Given the description of an element on the screen output the (x, y) to click on. 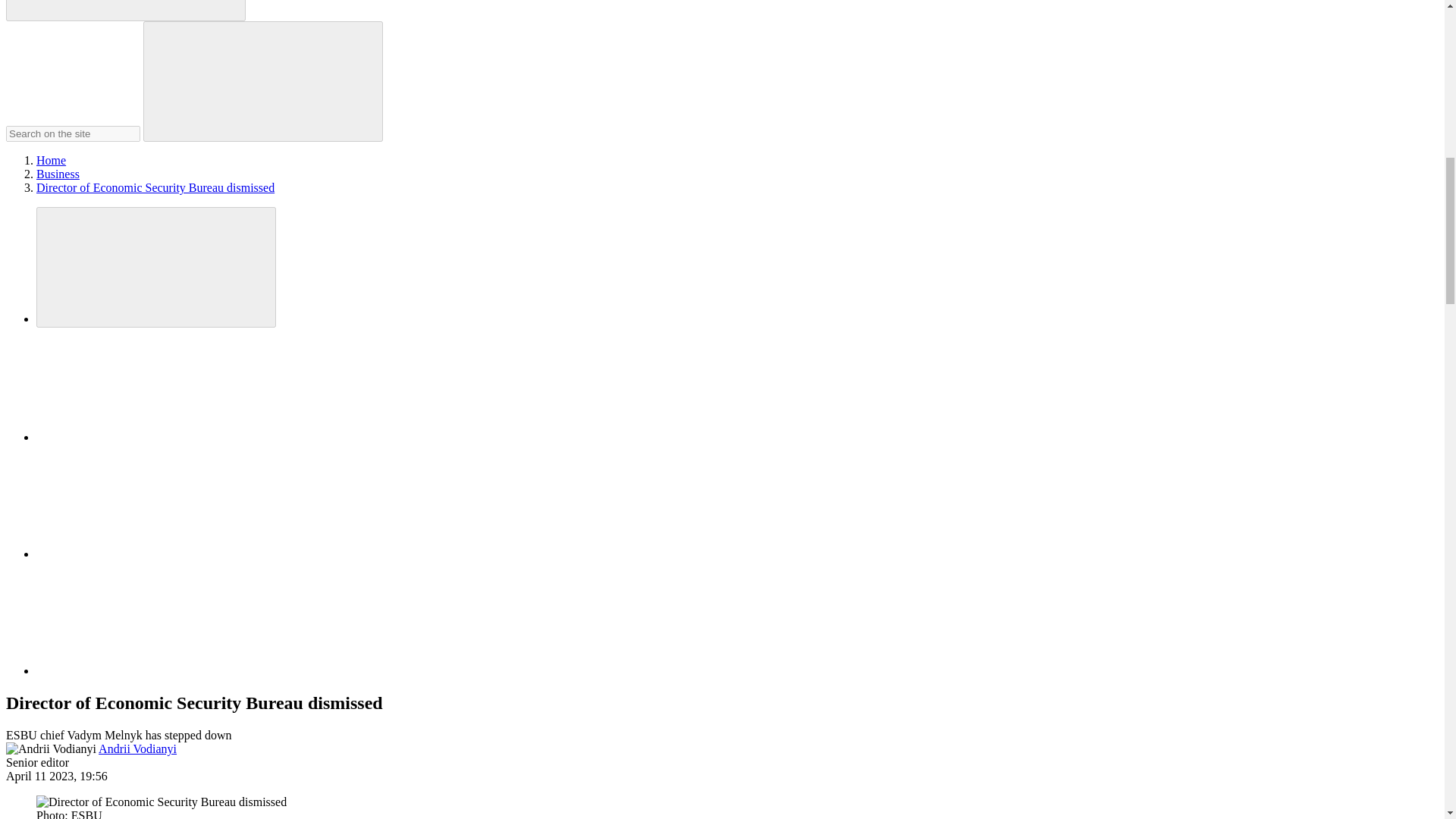
Home (50, 160)
Director of Economic Security Bureau dismissed (161, 802)
Director of Economic Security Bureau dismissed (155, 187)
Andrii Vodianyi (137, 748)
Business (58, 173)
Andrii Vodianyi (50, 748)
